Given the description of an element on the screen output the (x, y) to click on. 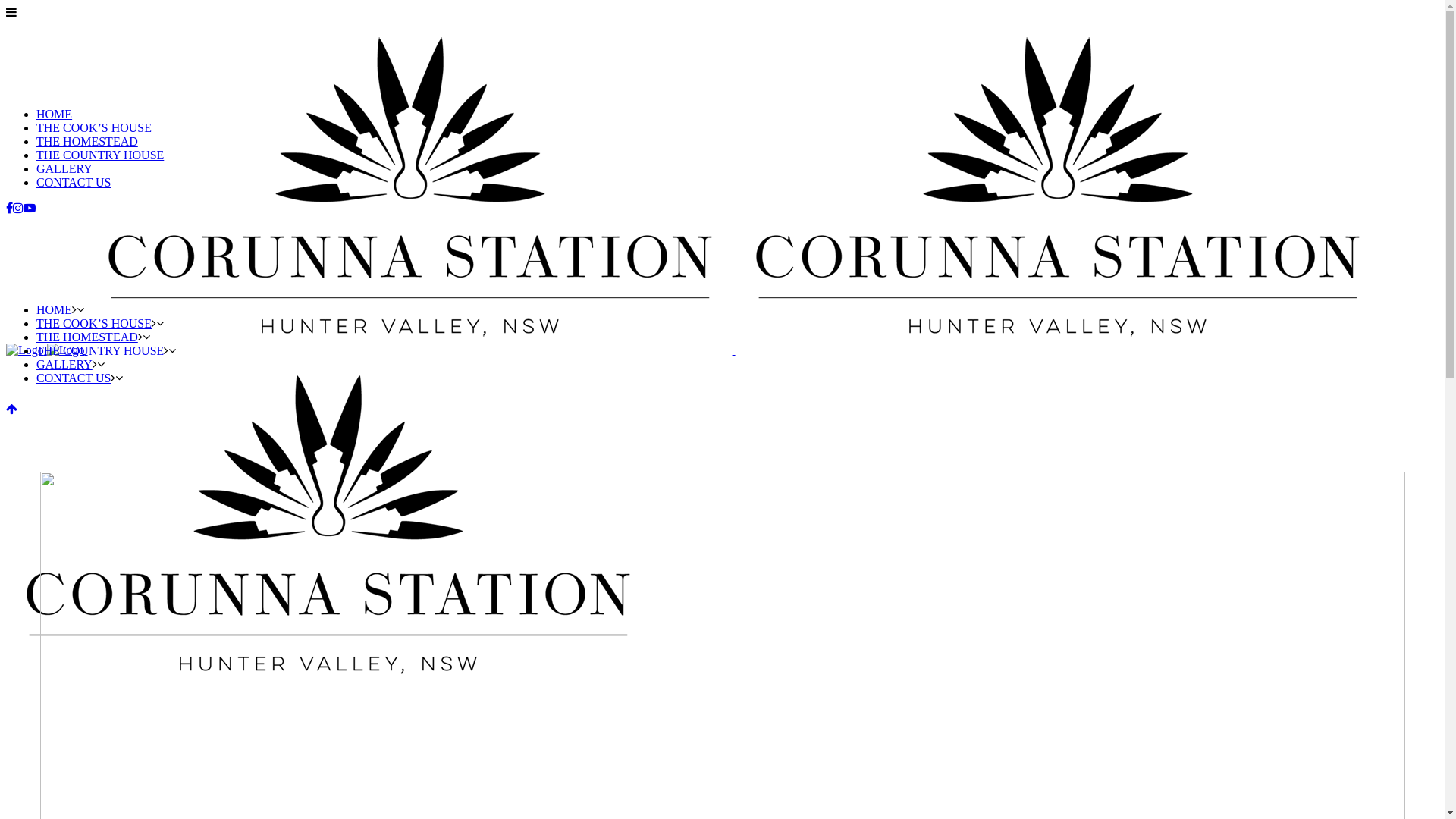
GALLERY Element type: text (64, 168)
GALLERY Element type: text (64, 363)
THE COUNTRY HOUSE Element type: text (99, 350)
CONTACT US Element type: text (73, 377)
CONTACT US Element type: text (73, 181)
THE HOMESTEAD Element type: text (87, 140)
THE COUNTRY HOUSE Element type: text (99, 154)
HOME Element type: text (54, 309)
THE HOMESTEAD Element type: text (87, 336)
HOME Element type: text (54, 113)
